Given the description of an element on the screen output the (x, y) to click on. 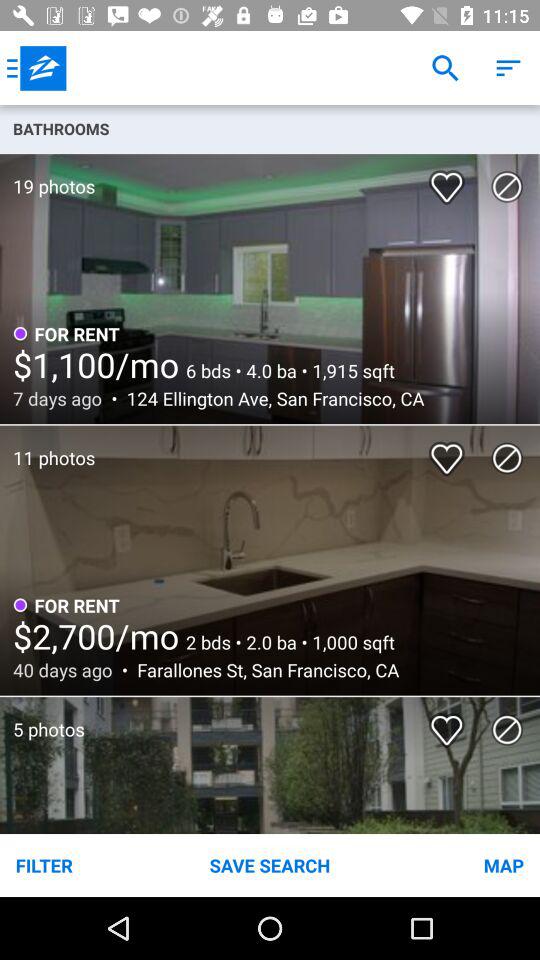
turn on the item next to filter item (270, 864)
